Given the description of an element on the screen output the (x, y) to click on. 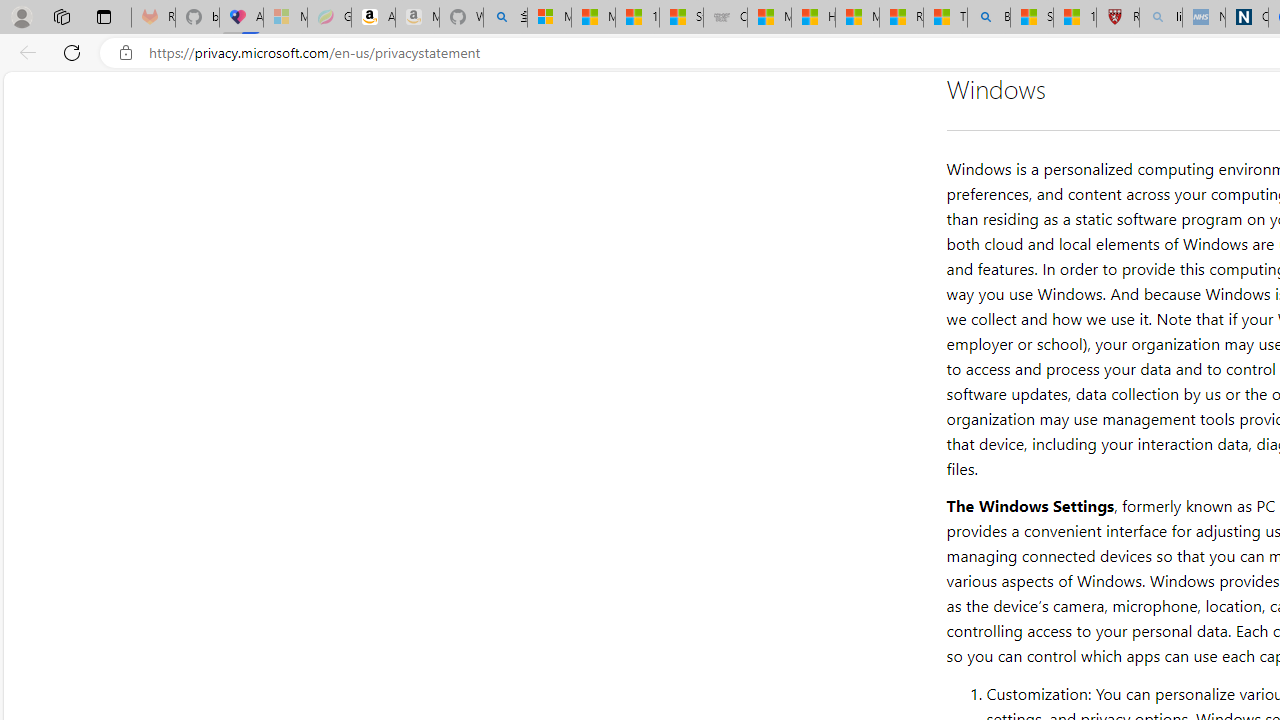
12 Popular Science Lies that Must be Corrected (1074, 17)
Asthma Inhalers: Names and Types (241, 17)
Combat Siege (725, 17)
